Given the description of an element on the screen output the (x, y) to click on. 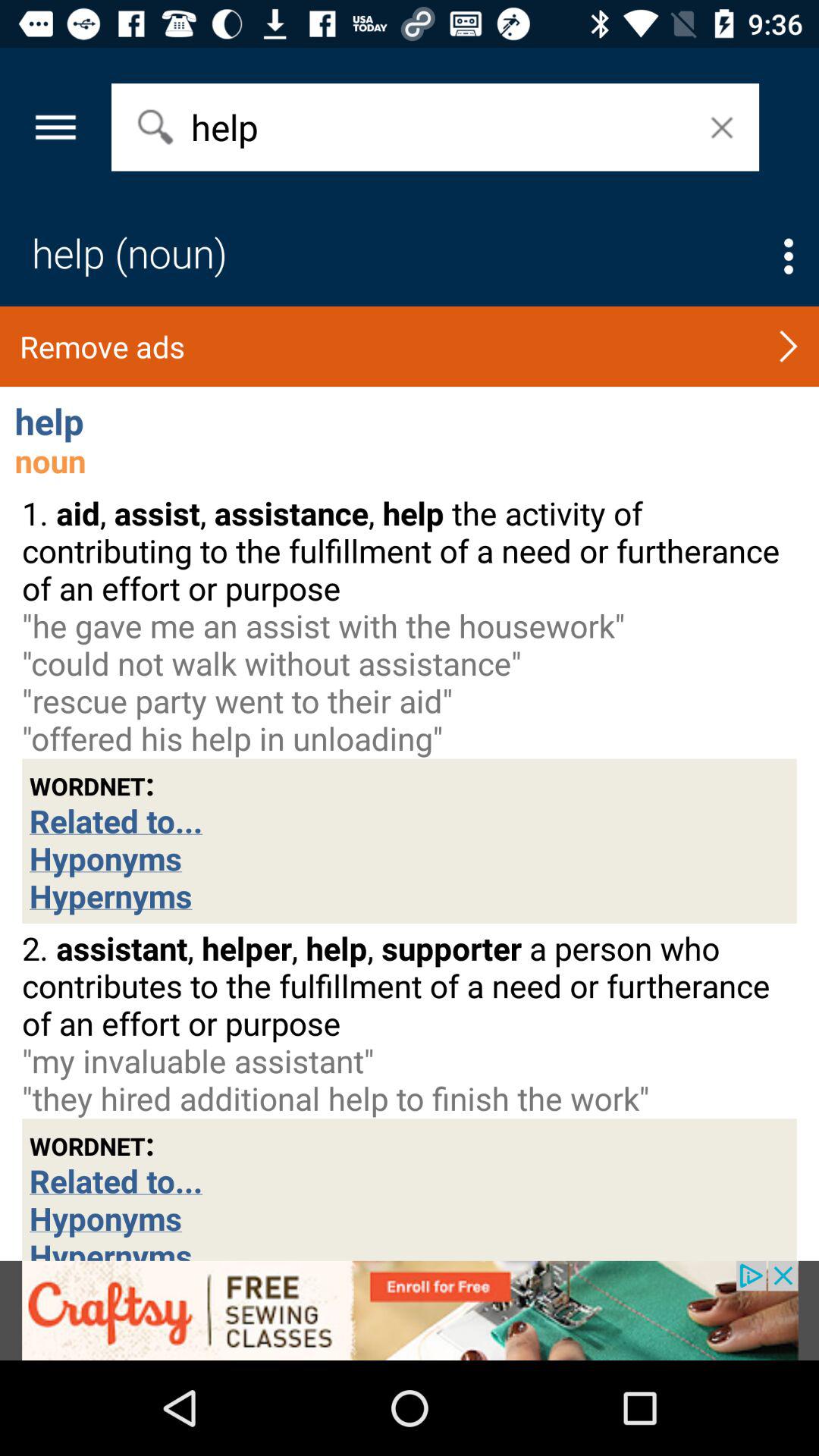
menu bar (788, 256)
